Given the description of an element on the screen output the (x, y) to click on. 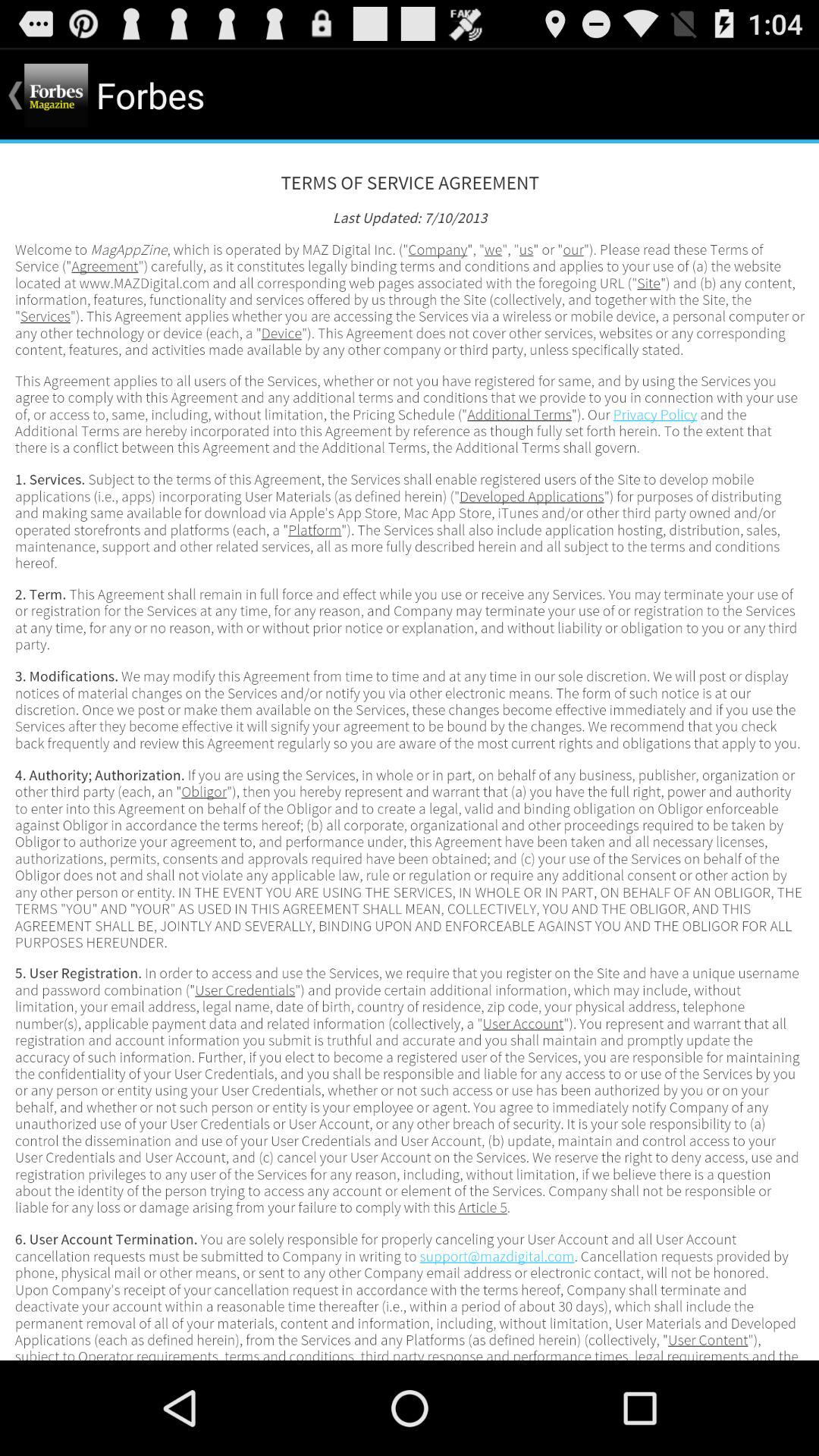
paragraph the text (409, 751)
